Given the description of an element on the screen output the (x, y) to click on. 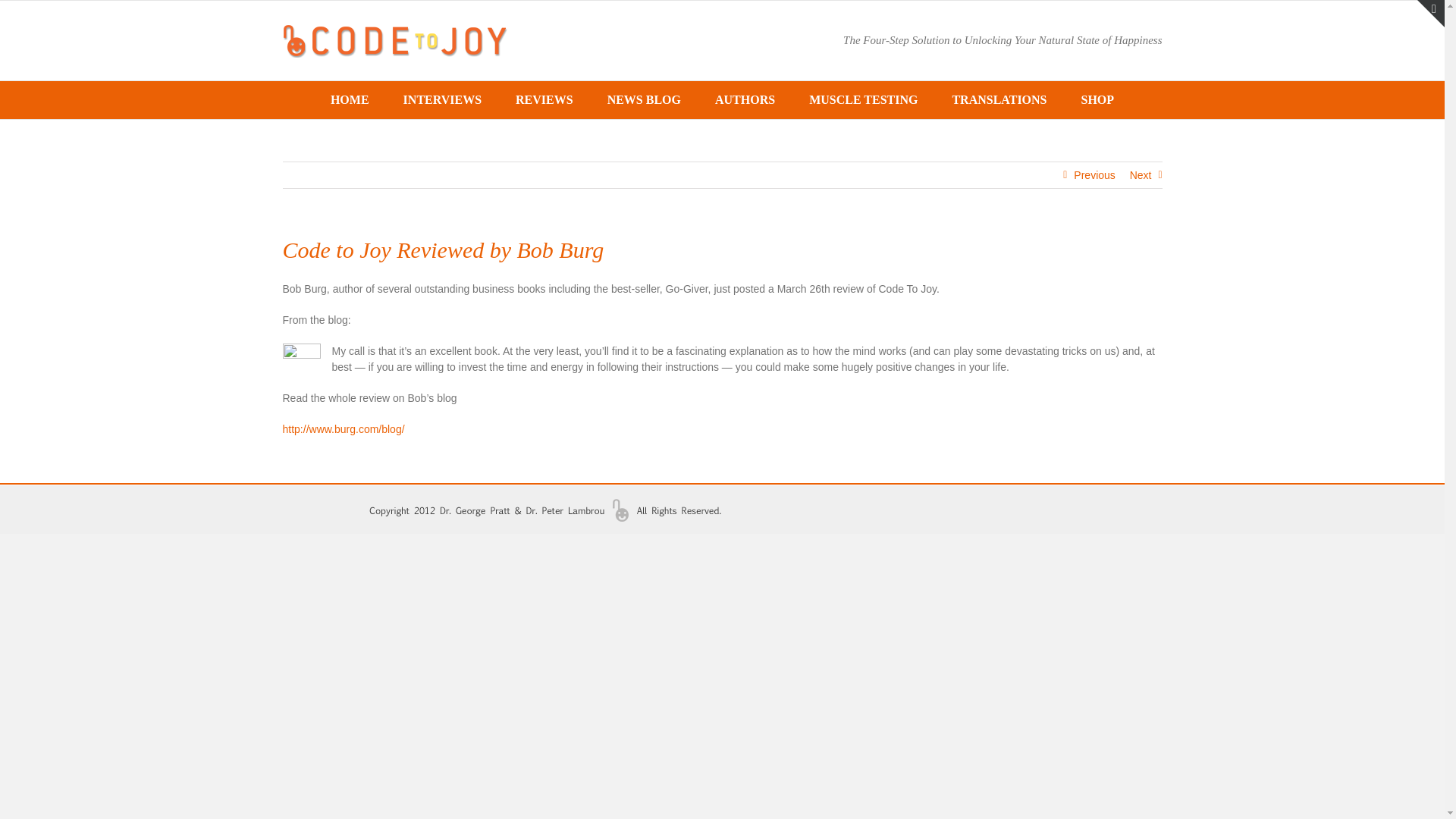
NEWS BLOG (644, 99)
HOME (349, 99)
MUSCLE TESTING (863, 99)
TRANSLATIONS (999, 99)
Previous (1094, 175)
AUTHORS (744, 99)
REVIEWS (544, 99)
INTERVIEWS (442, 99)
